Given the description of an element on the screen output the (x, y) to click on. 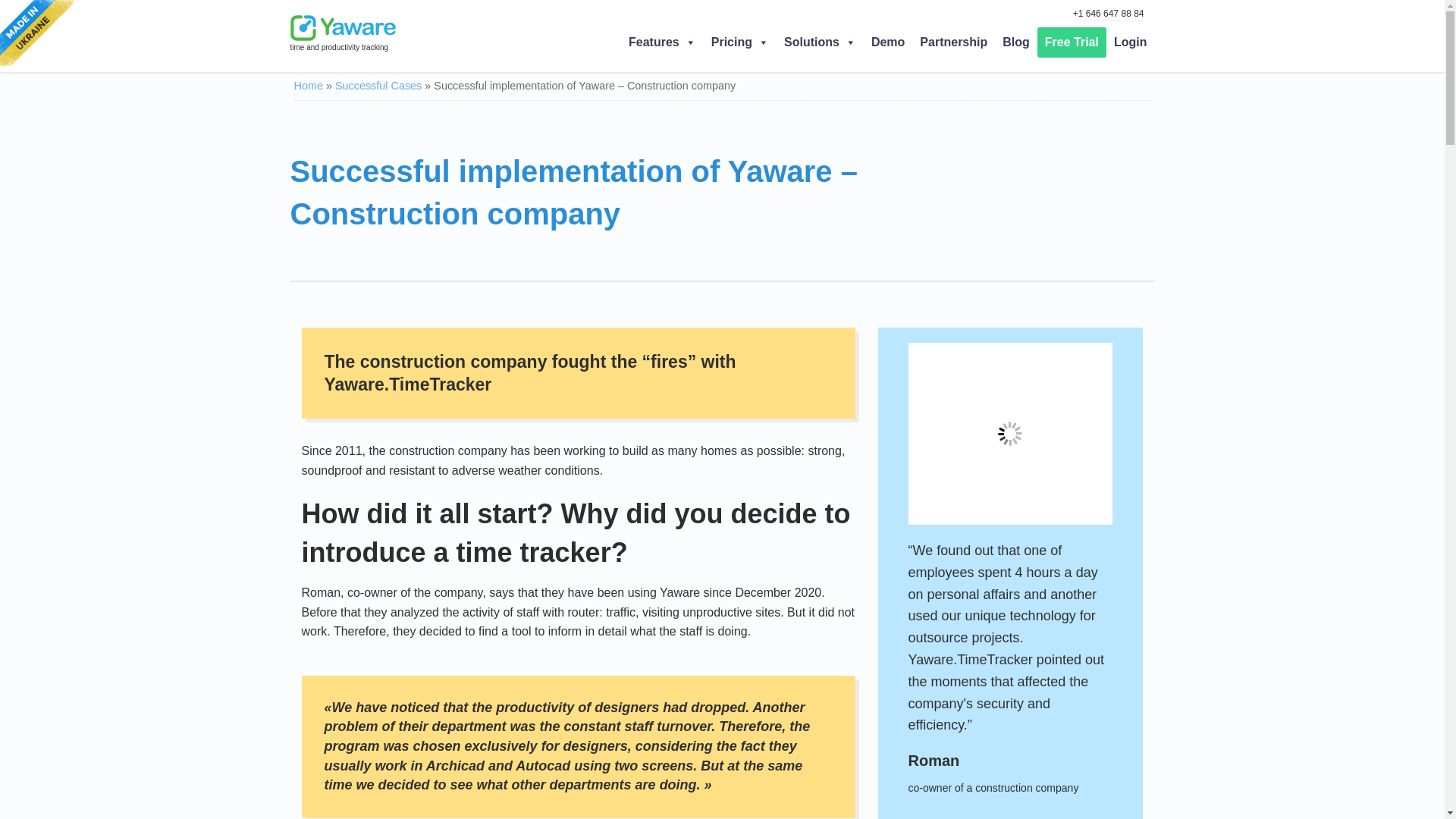
Solutions (819, 42)
Features (662, 42)
Start your Yaware.TimeManager 14-days FREE TRIAL now! (1071, 42)
Pricing (739, 42)
